Given the description of an element on the screen output the (x, y) to click on. 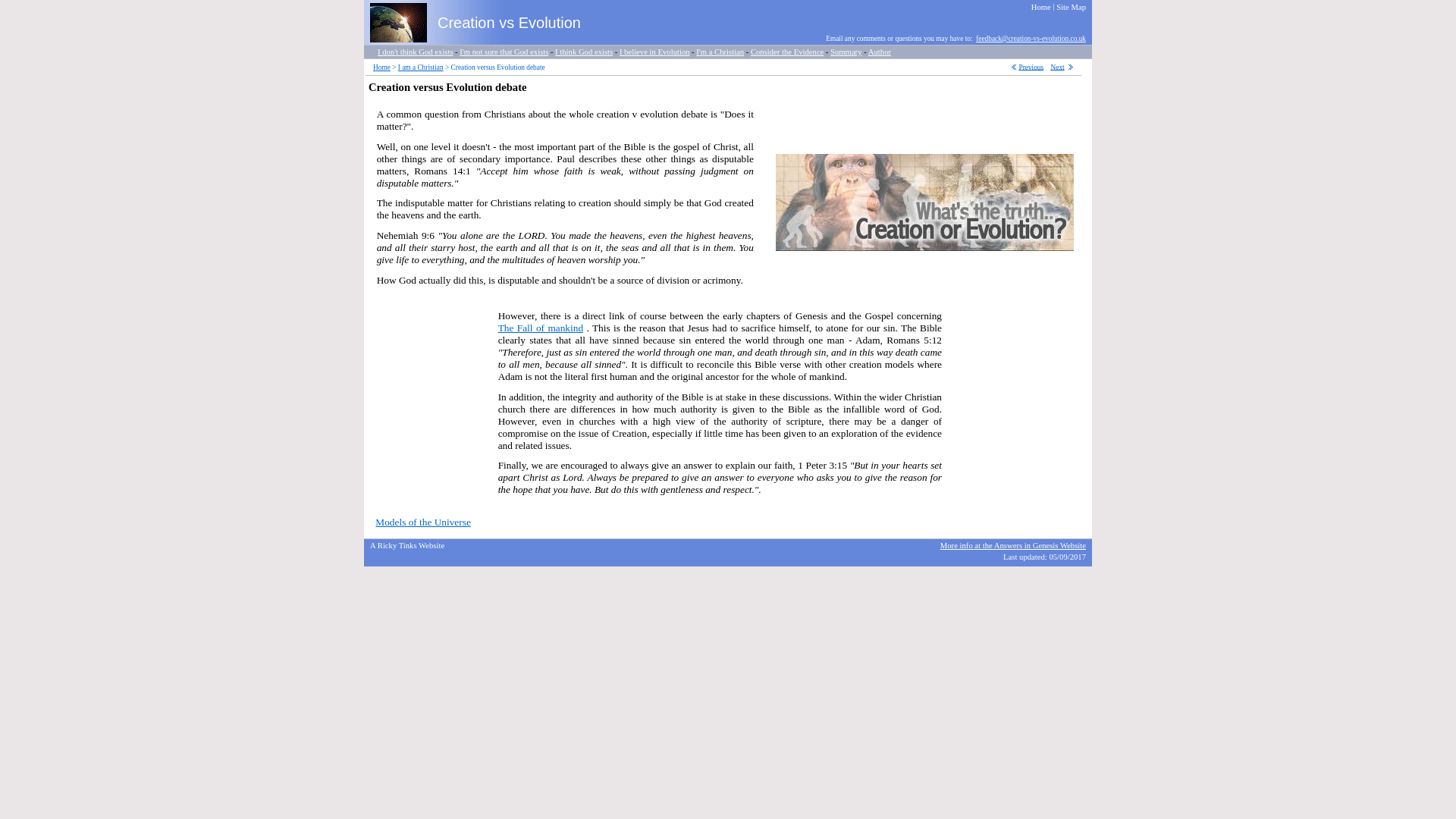
Author (879, 50)
Consider the Evidence (787, 50)
I'm not sure that God exists (504, 50)
More info at the Answers in Genesis Website (1013, 545)
I'm a Christian (719, 50)
Previous (1031, 66)
Models of the Universe (422, 521)
Home (381, 67)
The Fall of mankind (540, 327)
I am a Christian (420, 67)
I think God exists (583, 50)
Site Map (1071, 6)
Next (1057, 66)
Summary (845, 50)
I don't think God exists (414, 50)
